Given the description of an element on the screen output the (x, y) to click on. 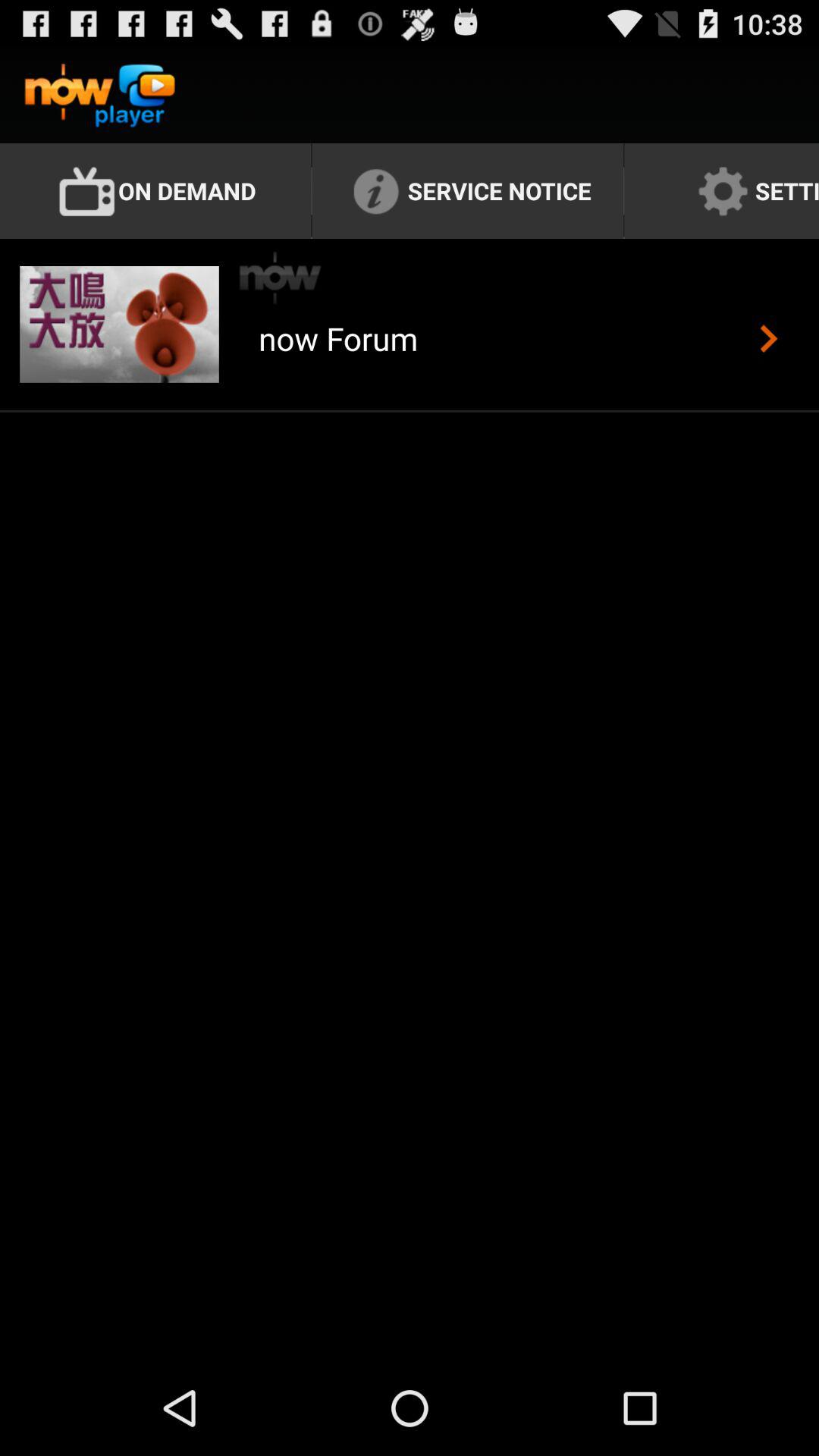
open the app to the right of now forum (769, 338)
